Given the description of an element on the screen output the (x, y) to click on. 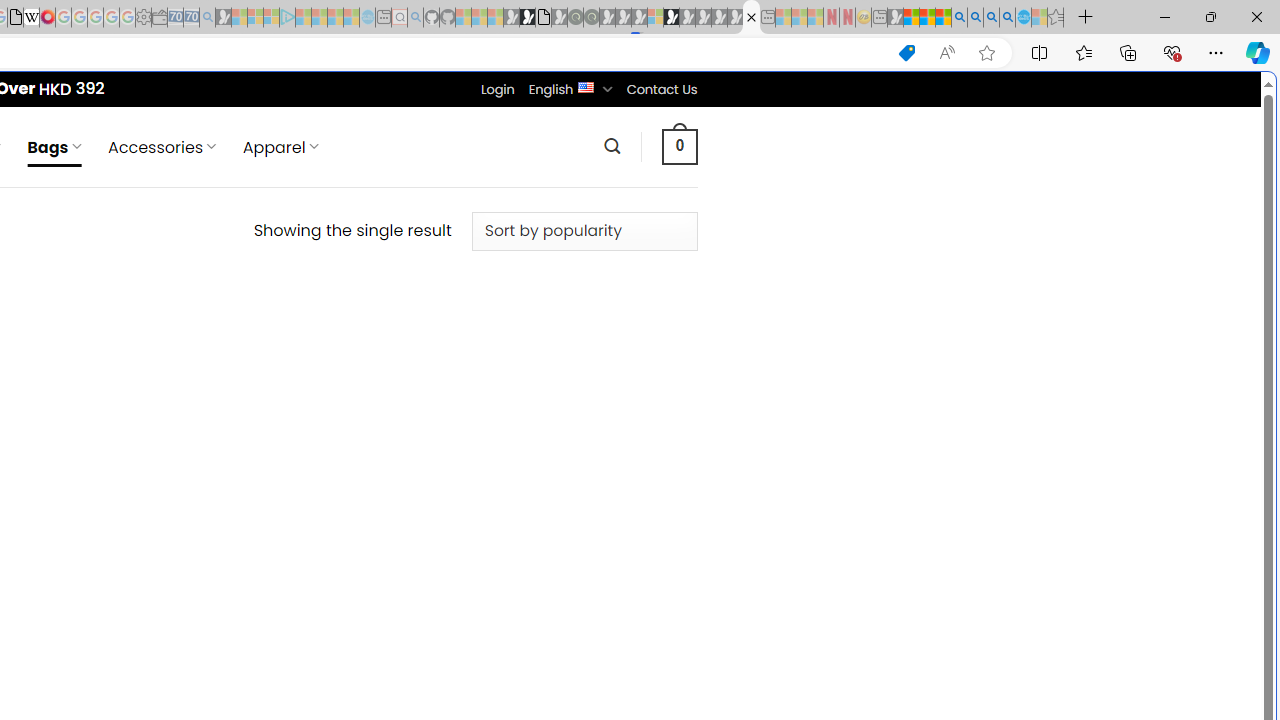
English (586, 86)
